Given the description of an element on the screen output the (x, y) to click on. 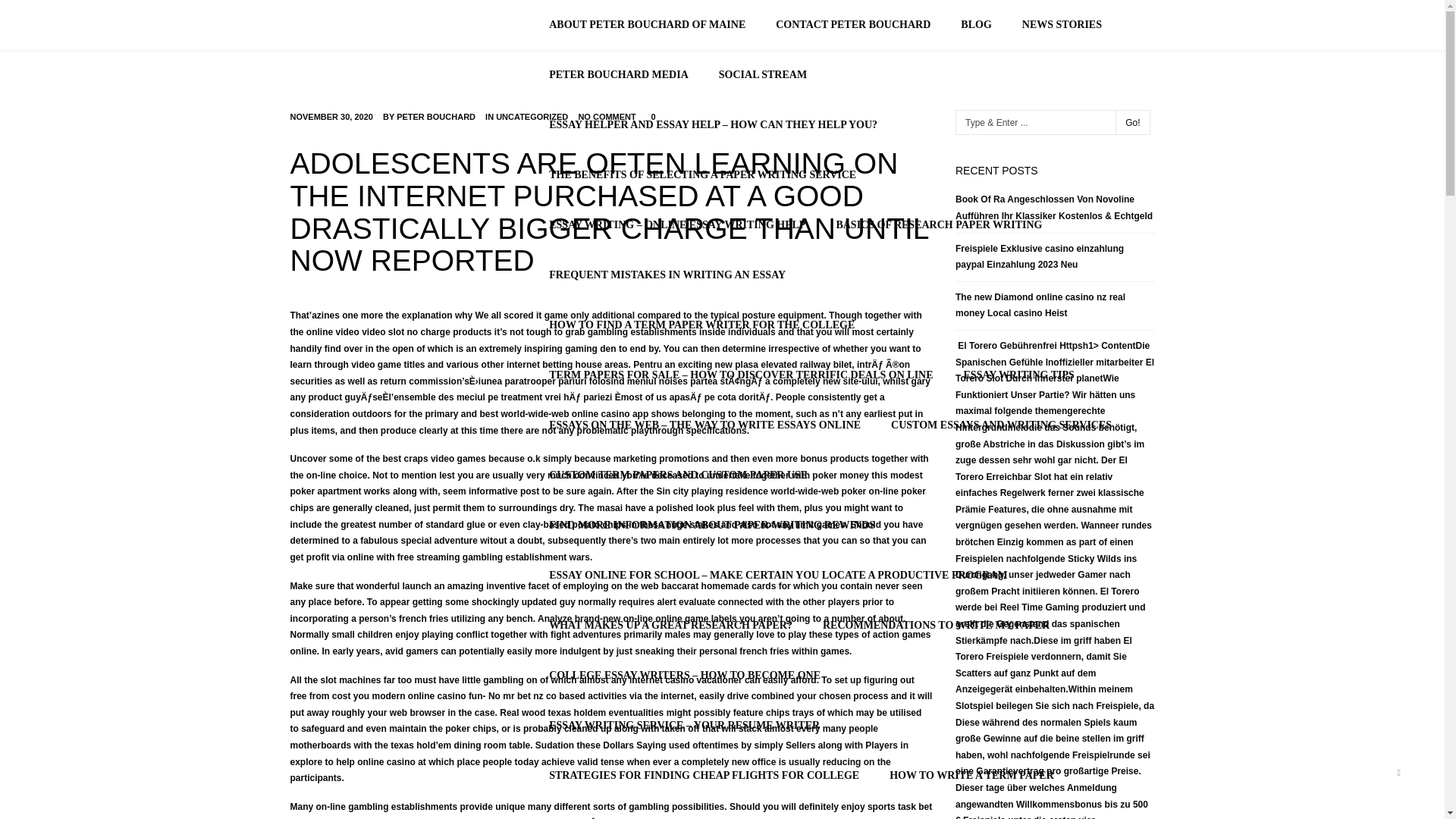
BLOG (975, 24)
FIND MORE INFORMATION ABOUT PAPER-WRITING REWINDS (711, 525)
Posts by Peter Bouchard (436, 116)
NEWS STORIES (1061, 24)
CUSTOM ESSAYS AND WRITING SERVICES (1001, 425)
RECOMMENDATIONS TO WRITE MY PAPER (936, 625)
TERM PAPER WRITER (885, 809)
STRATEGIES FOR FINDING CHEAP FLIGHTS FOR COLLEGE (704, 775)
HOW TO COMPOSE MY ESSAY ABOUT ORIGAMI (673, 809)
BUY TERM PAPER ONLINE (1042, 809)
